Given the description of an element on the screen output the (x, y) to click on. 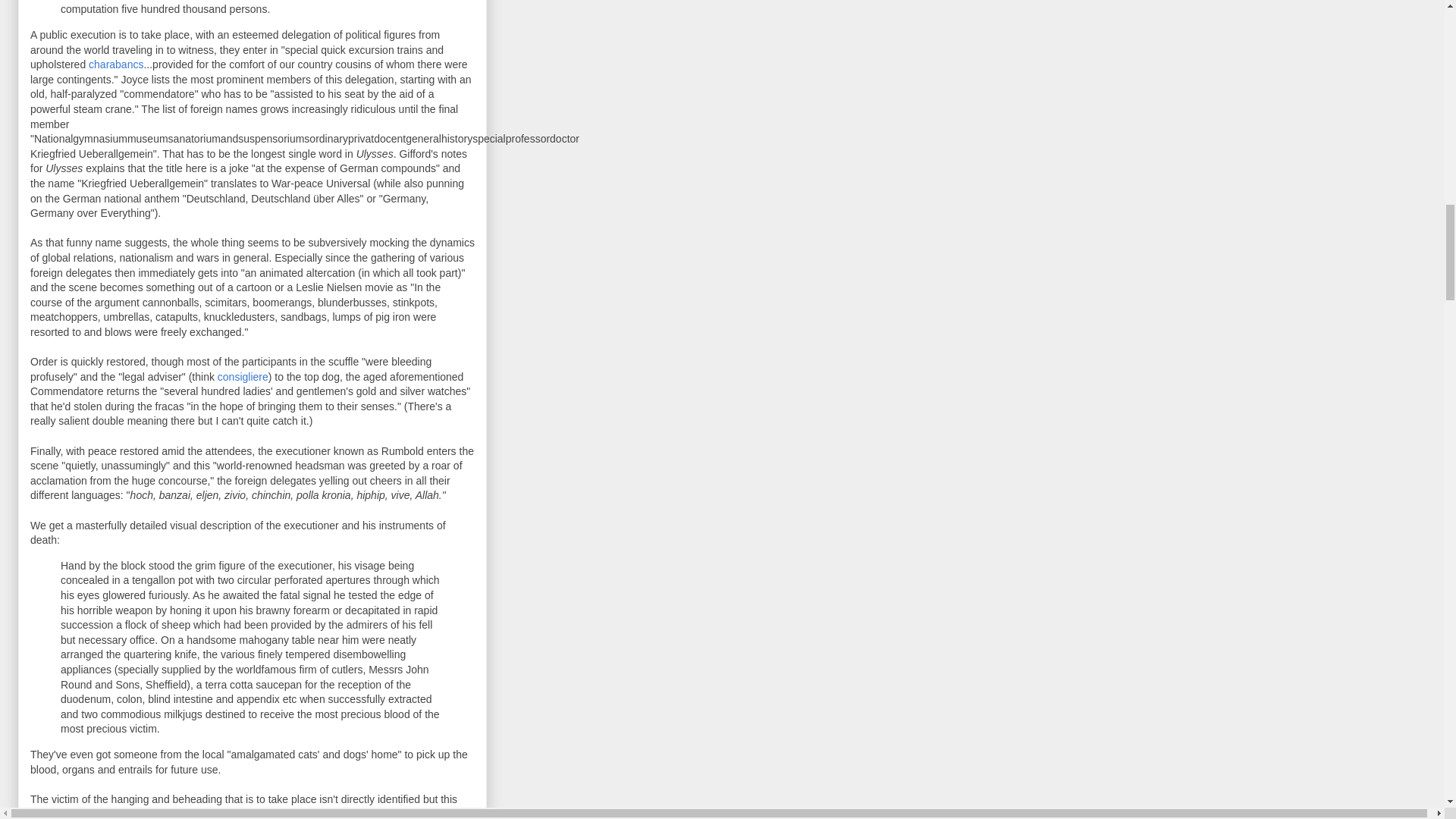
Robert Emmet (294, 813)
consigliere (241, 377)
charabancs (115, 64)
